Given the description of an element on the screen output the (x, y) to click on. 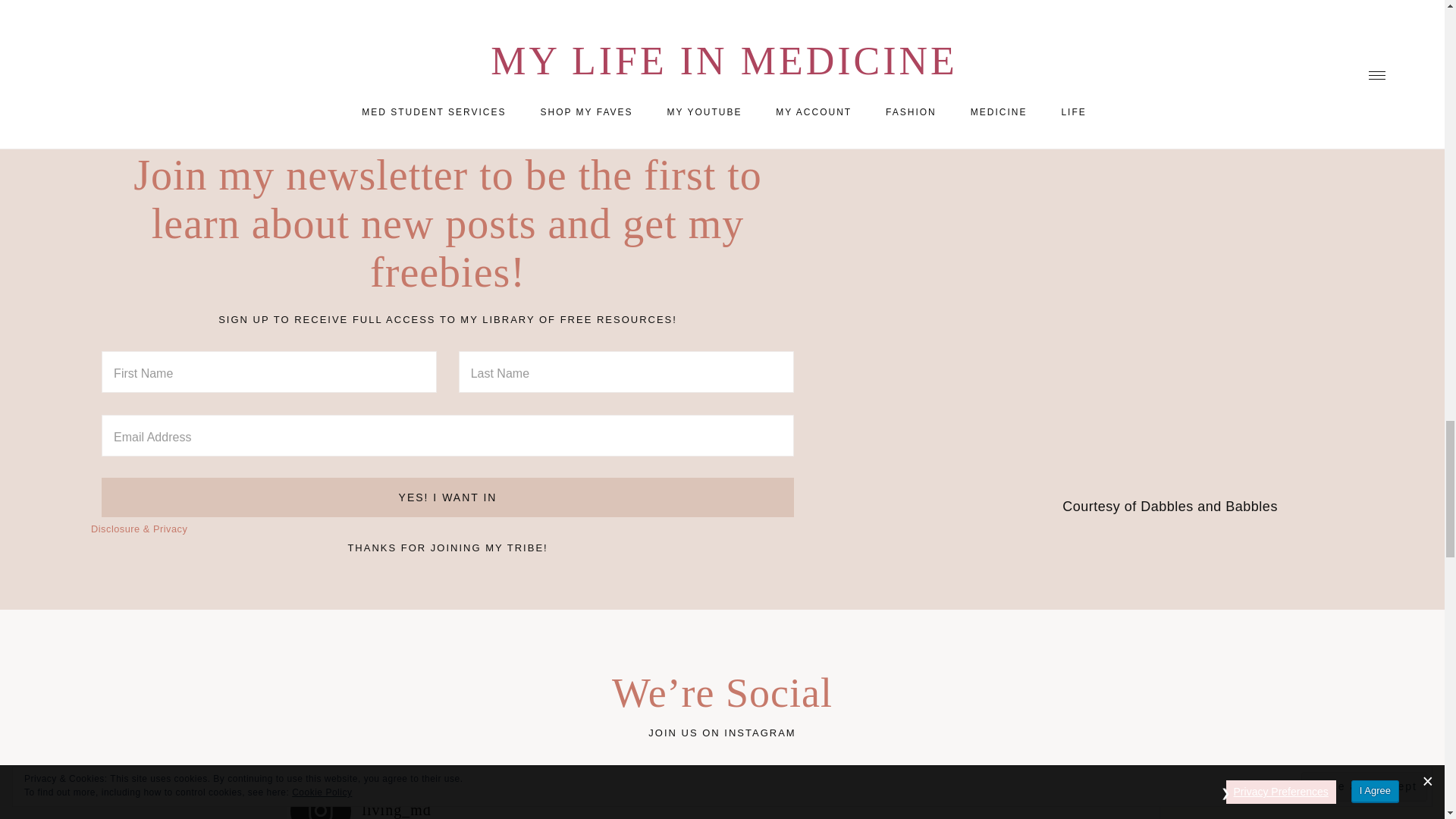
Yes! I want IN (447, 496)
